Given the description of an element on the screen output the (x, y) to click on. 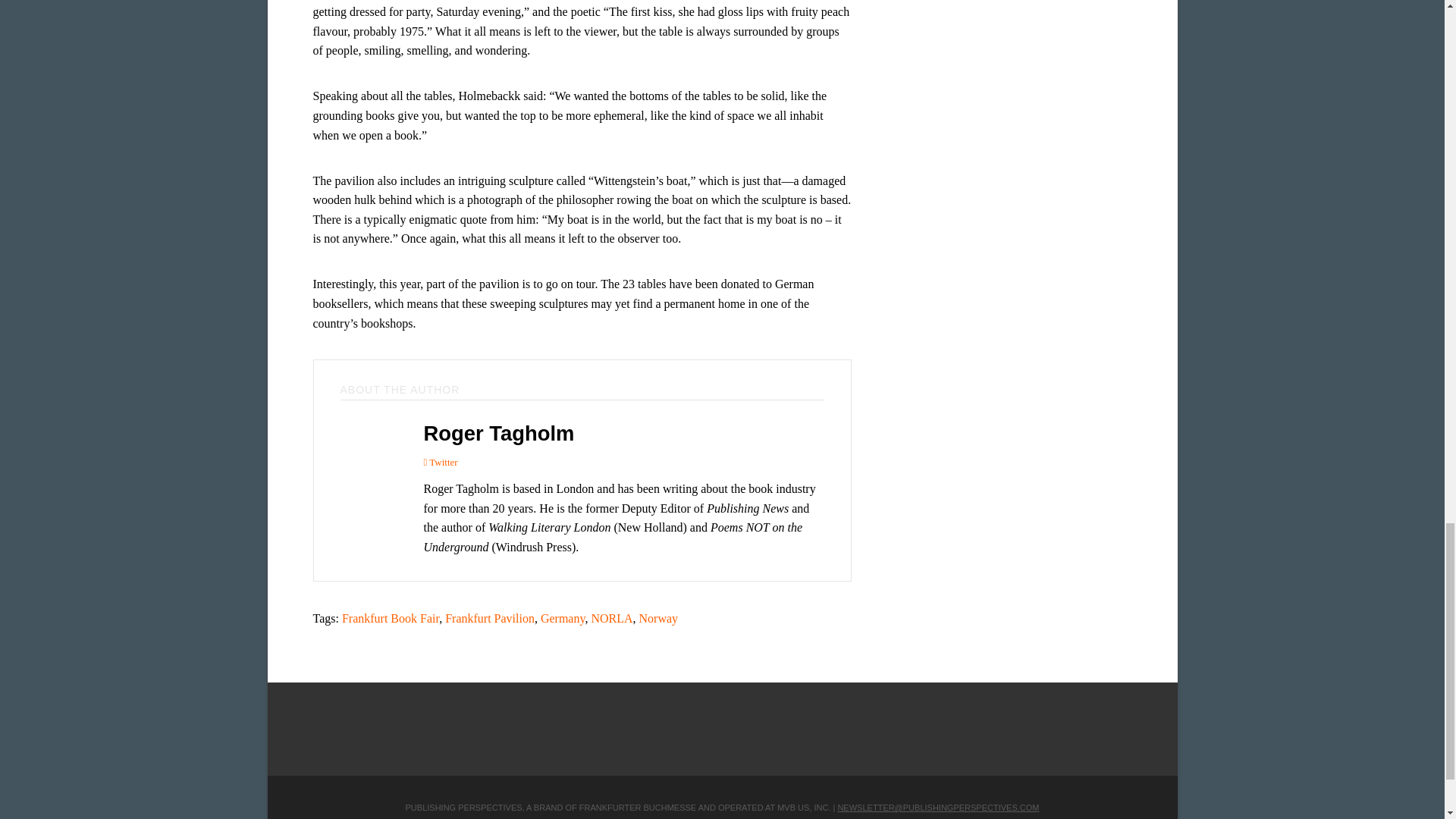
NORLA (611, 617)
Visit the Twitter Profile for Roger Tagholm (440, 461)
Twitter (440, 461)
Germany (562, 617)
Frankfurt Pavilion (489, 617)
Frankfurt Book Fair (390, 617)
